Given the description of an element on the screen output the (x, y) to click on. 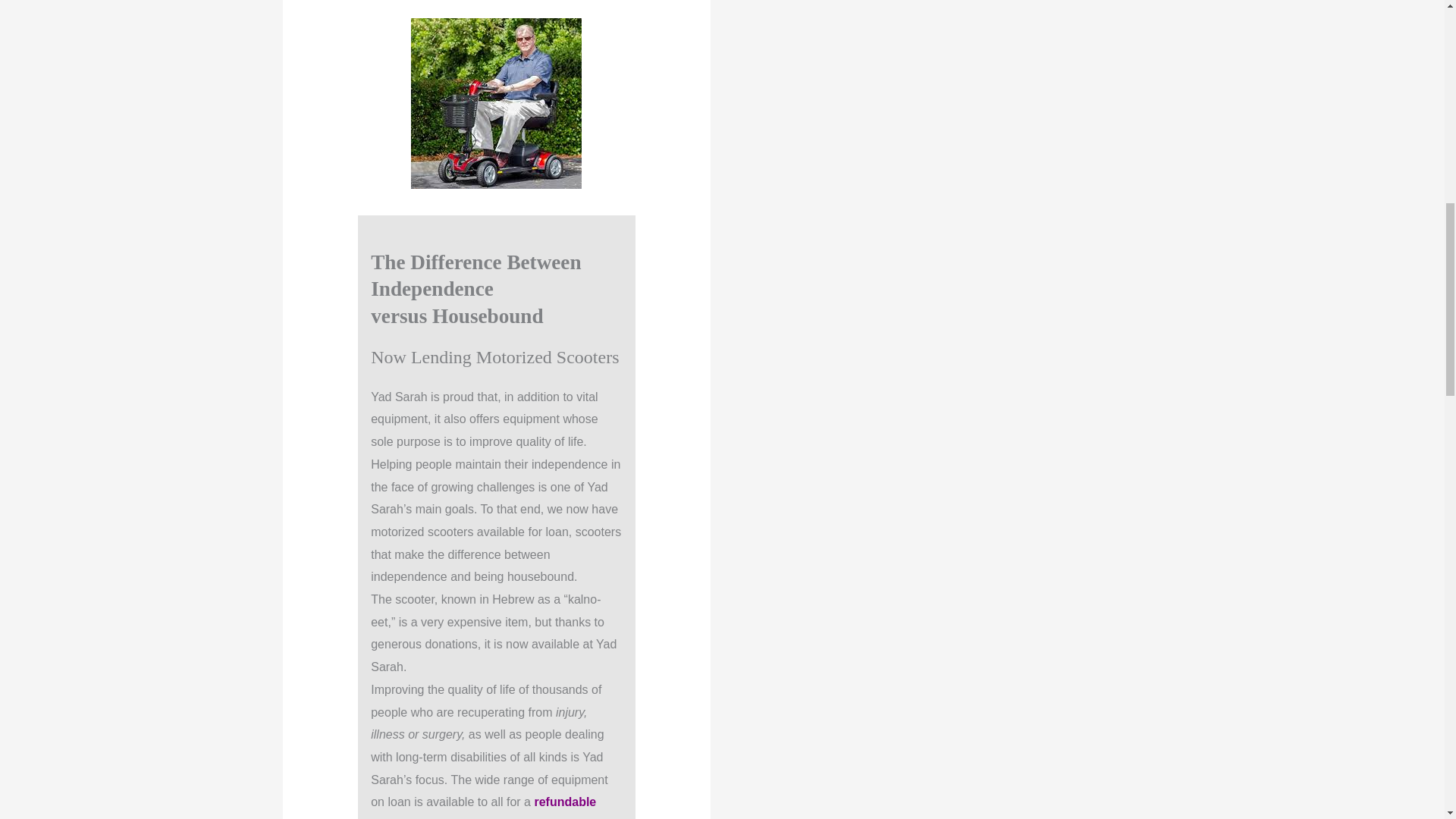
Scooter Offers Independance versus Being Housebound (495, 103)
